Given the description of an element on the screen output the (x, y) to click on. 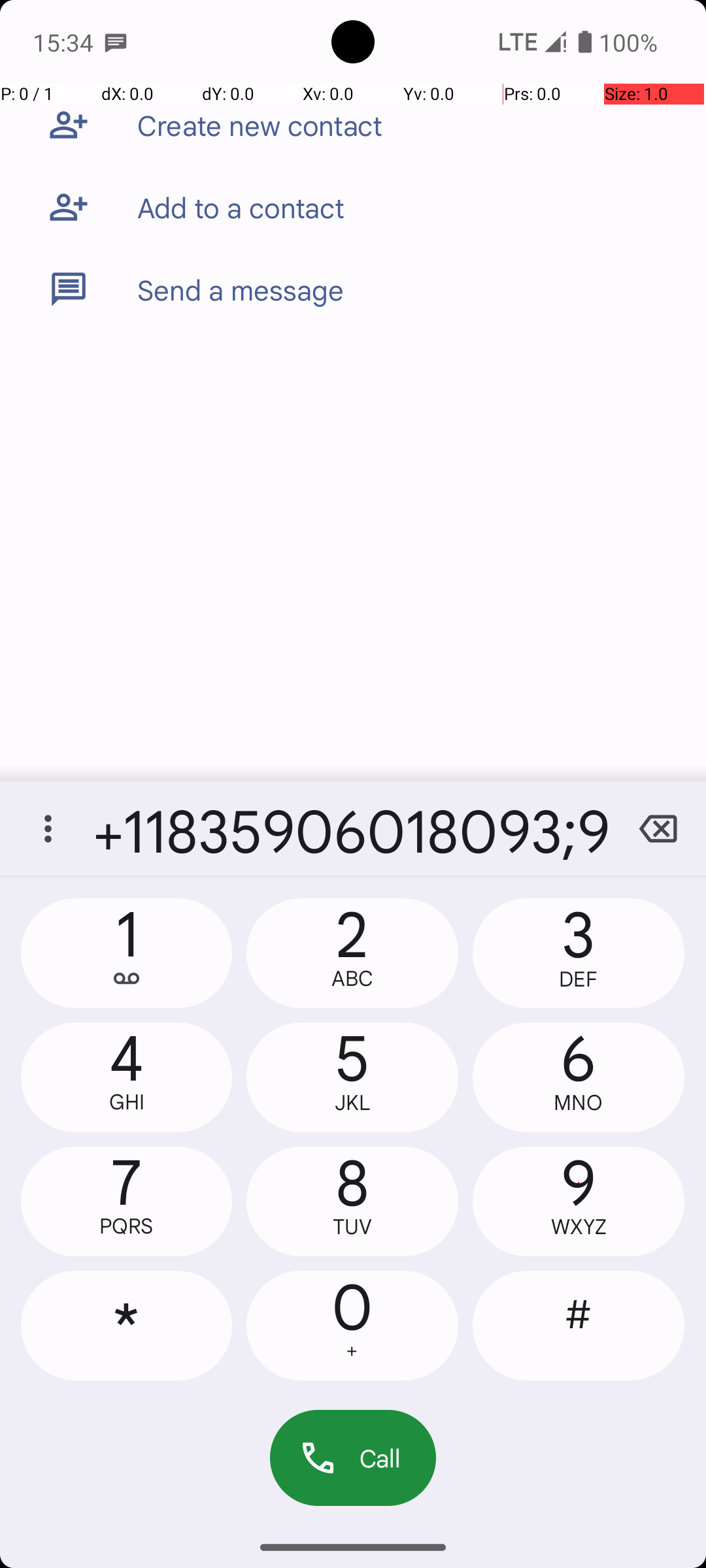
+11835906018093;9 Element type: android.widget.EditText (352, 828)
